Given the description of an element on the screen output the (x, y) to click on. 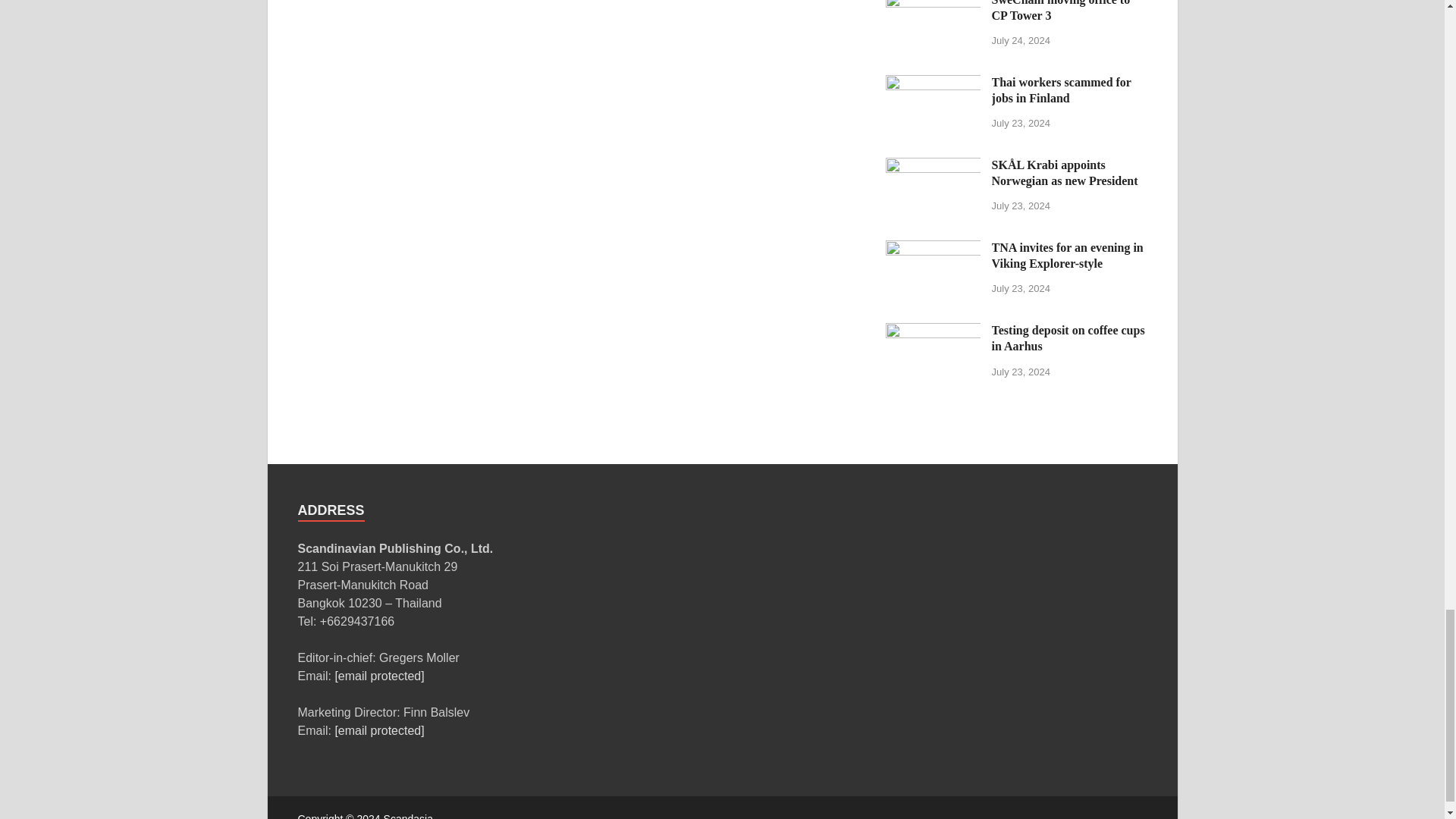
SweCham moving office to CP Tower 3 (932, 3)
Thai workers scammed for jobs in Finland (932, 83)
